Given the description of an element on the screen output the (x, y) to click on. 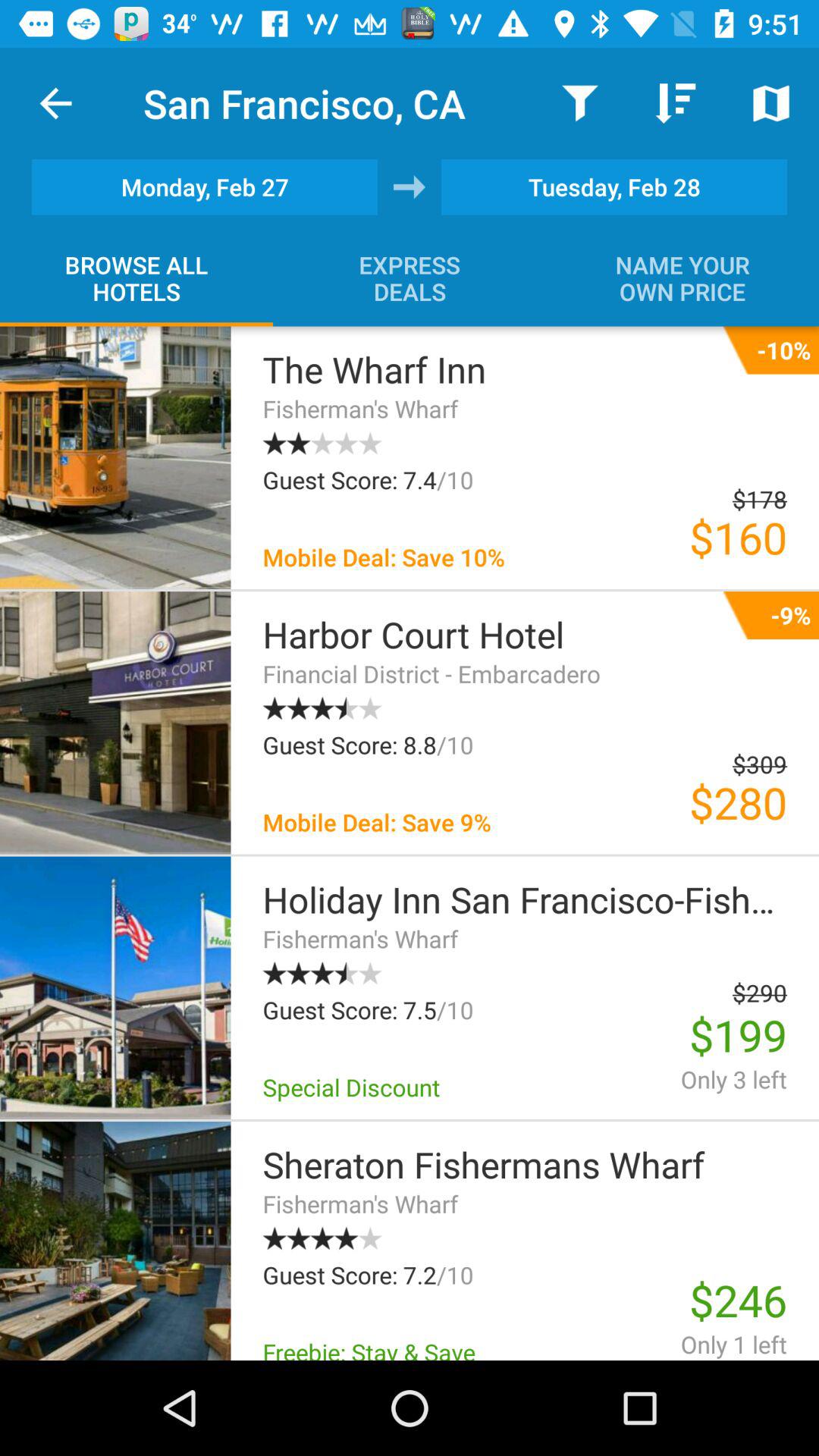
launch the item to the left of san francisco, ca item (55, 103)
